Given the description of an element on the screen output the (x, y) to click on. 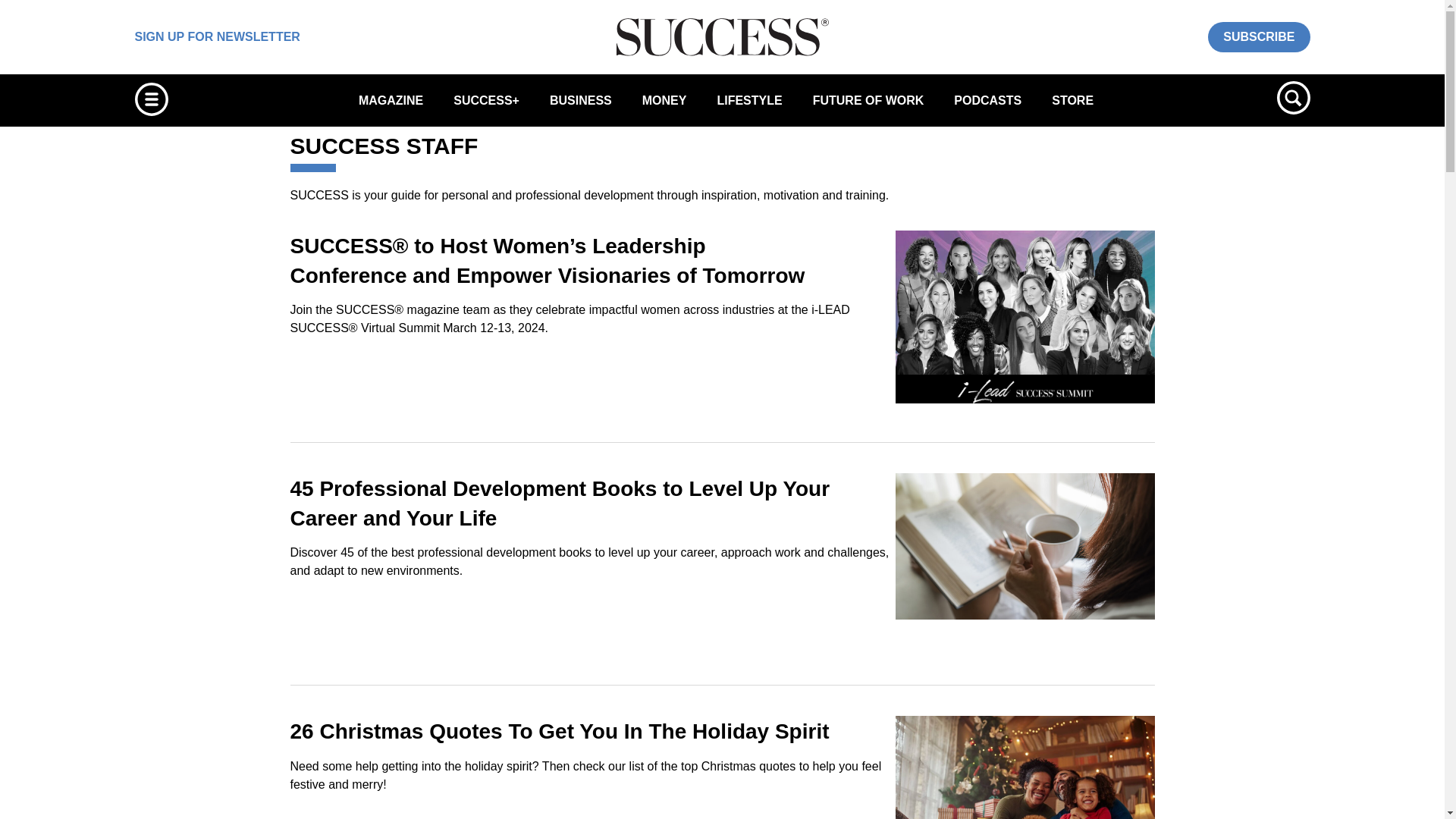
PODCASTS (987, 100)
LIFESTYLE (748, 100)
FUTURE OF WORK (868, 100)
MAGAZINE (390, 100)
SUBSCRIBE (1258, 36)
SIGN UP FOR NEWSLETTER (217, 36)
MONEY (664, 100)
BUSINESS (580, 100)
STORE (1072, 100)
